Given the description of an element on the screen output the (x, y) to click on. 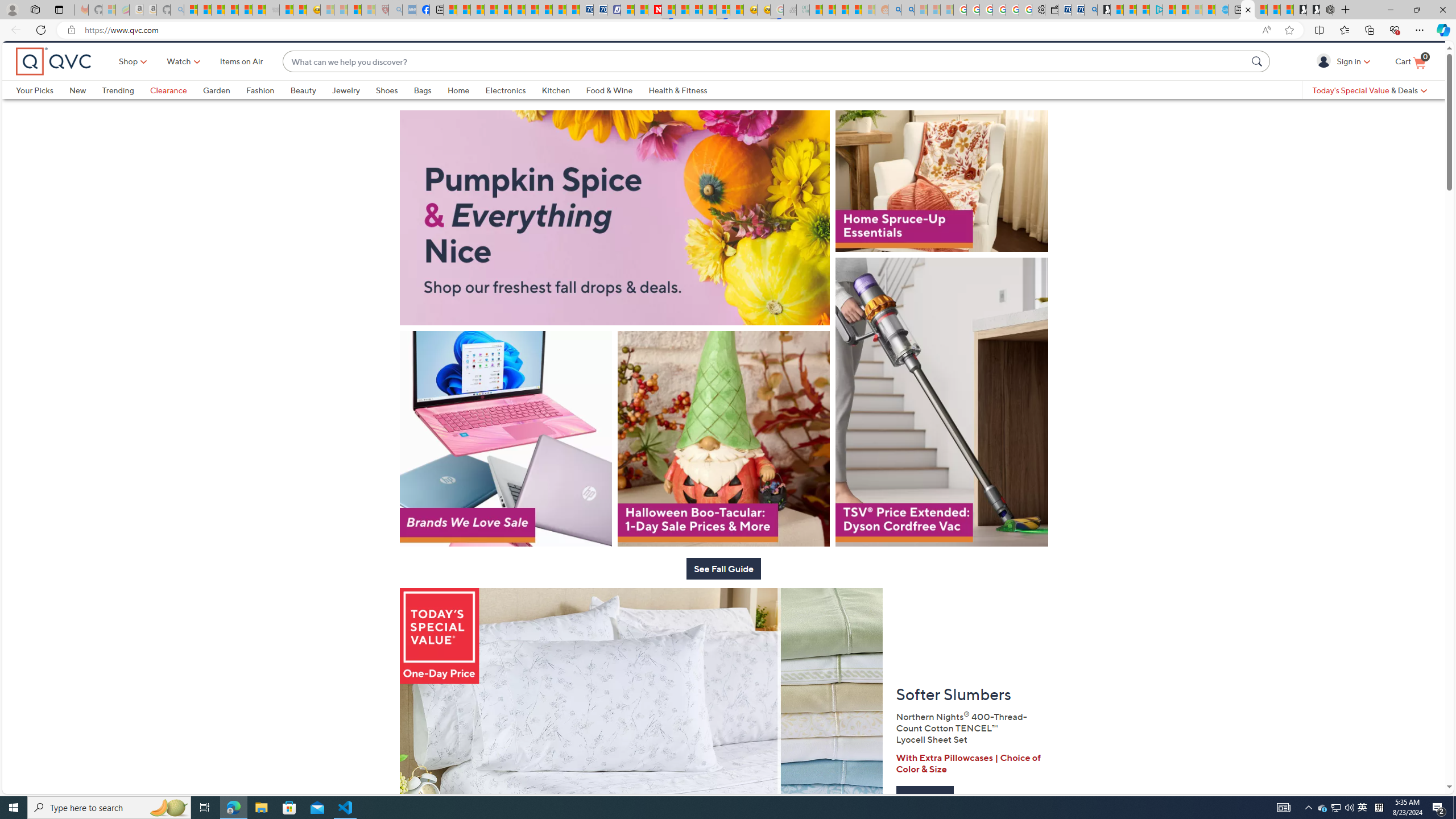
Brands We Love Sale (504, 473)
What can we help you discover? (764, 80)
Electronics (504, 109)
